Given the description of an element on the screen output the (x, y) to click on. 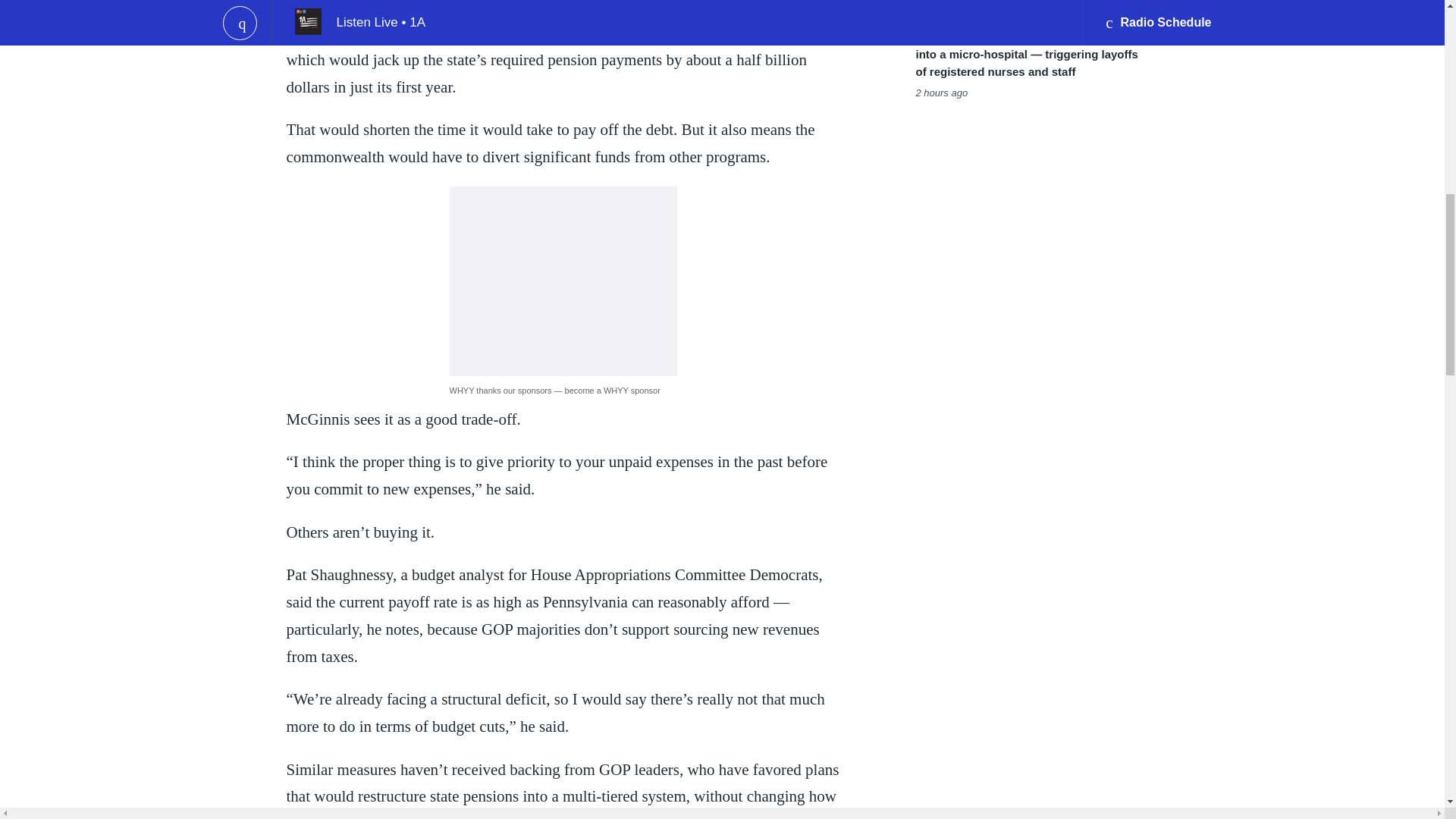
3rd party ad content (562, 280)
